Given the description of an element on the screen output the (x, y) to click on. 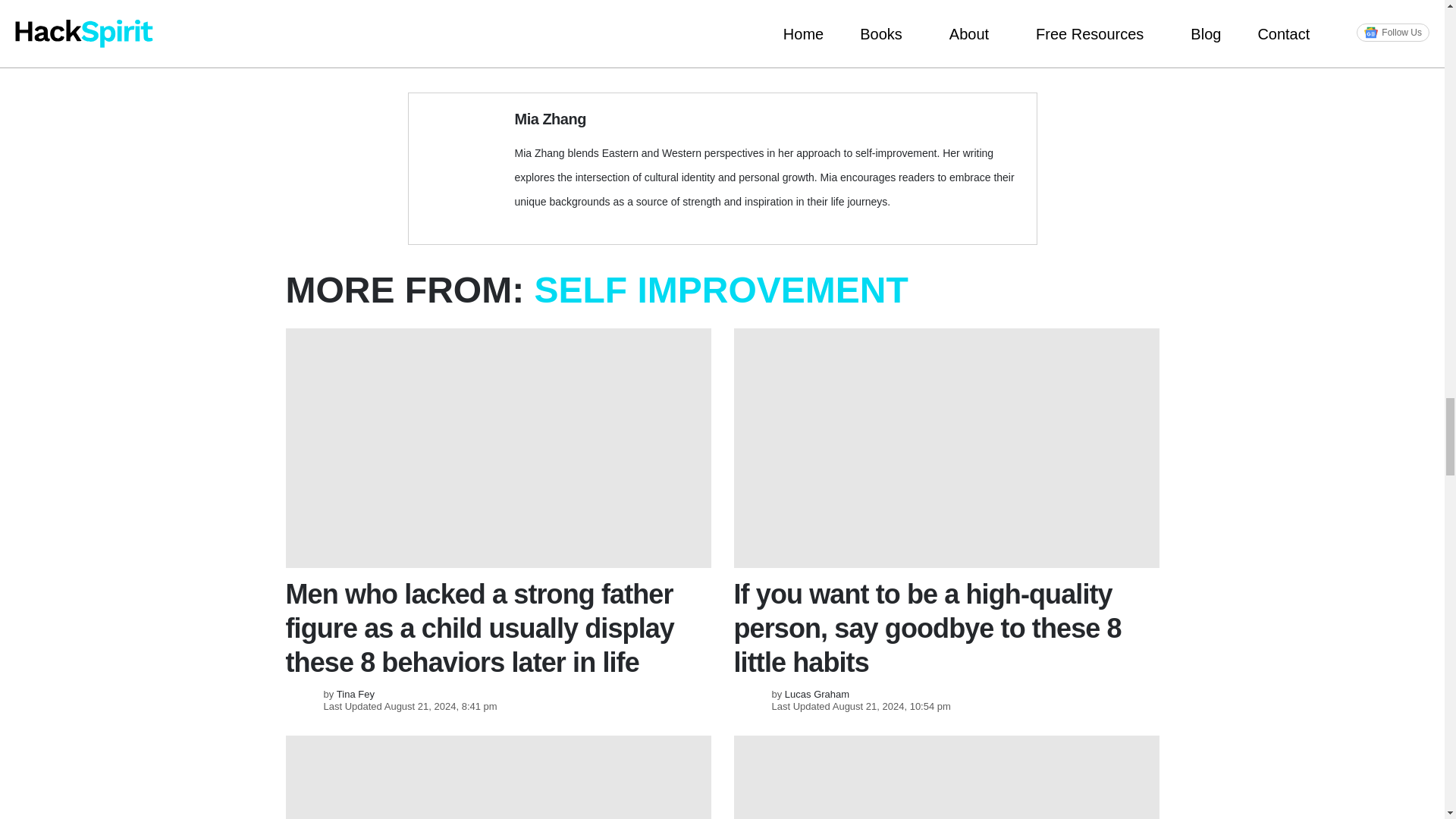
Posts by Lucas Graham (816, 694)
Posts by Tina Fey (355, 694)
